Given the description of an element on the screen output the (x, y) to click on. 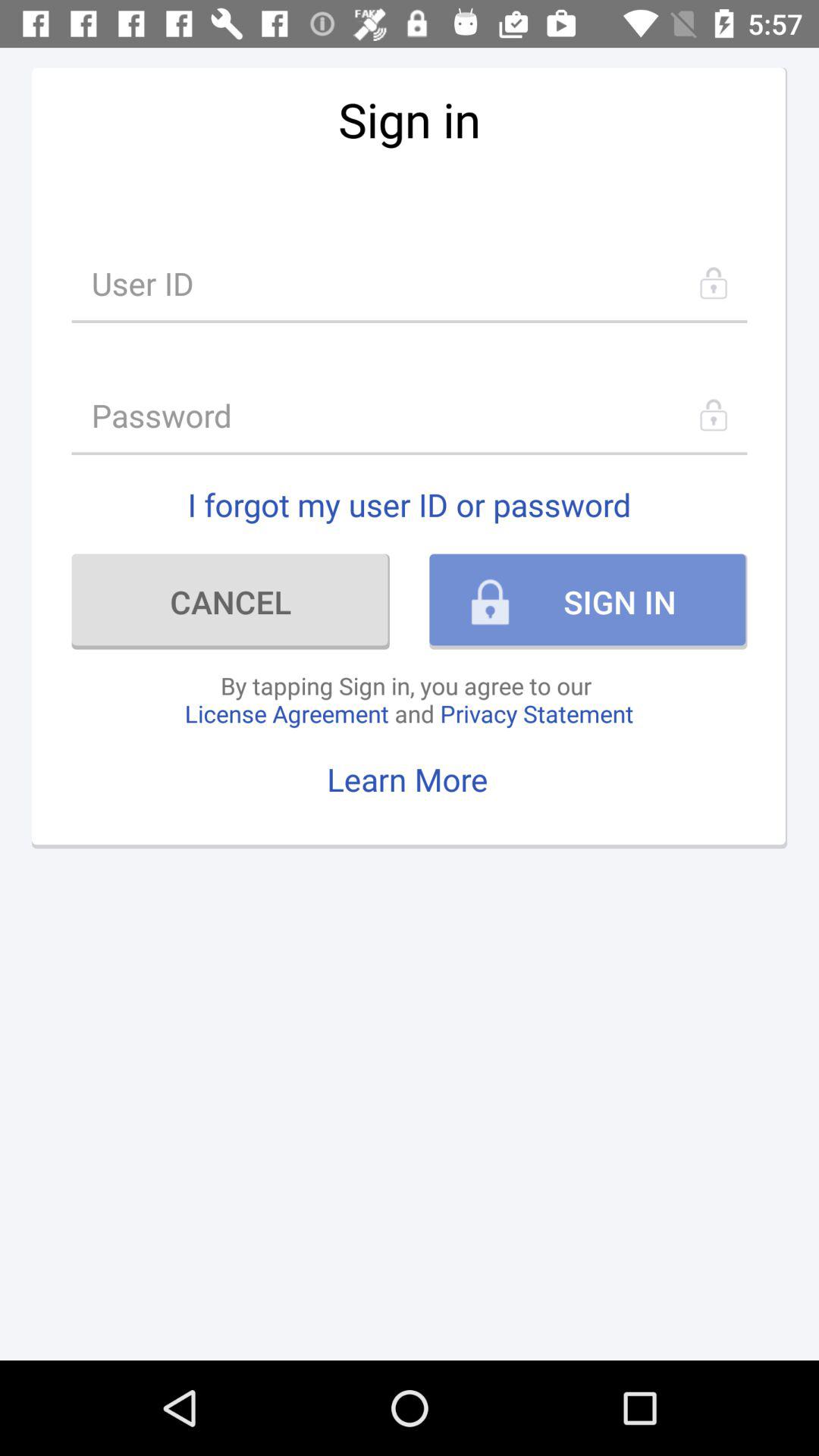
tap item to the left of sign in icon (230, 601)
